Given the description of an element on the screen output the (x, y) to click on. 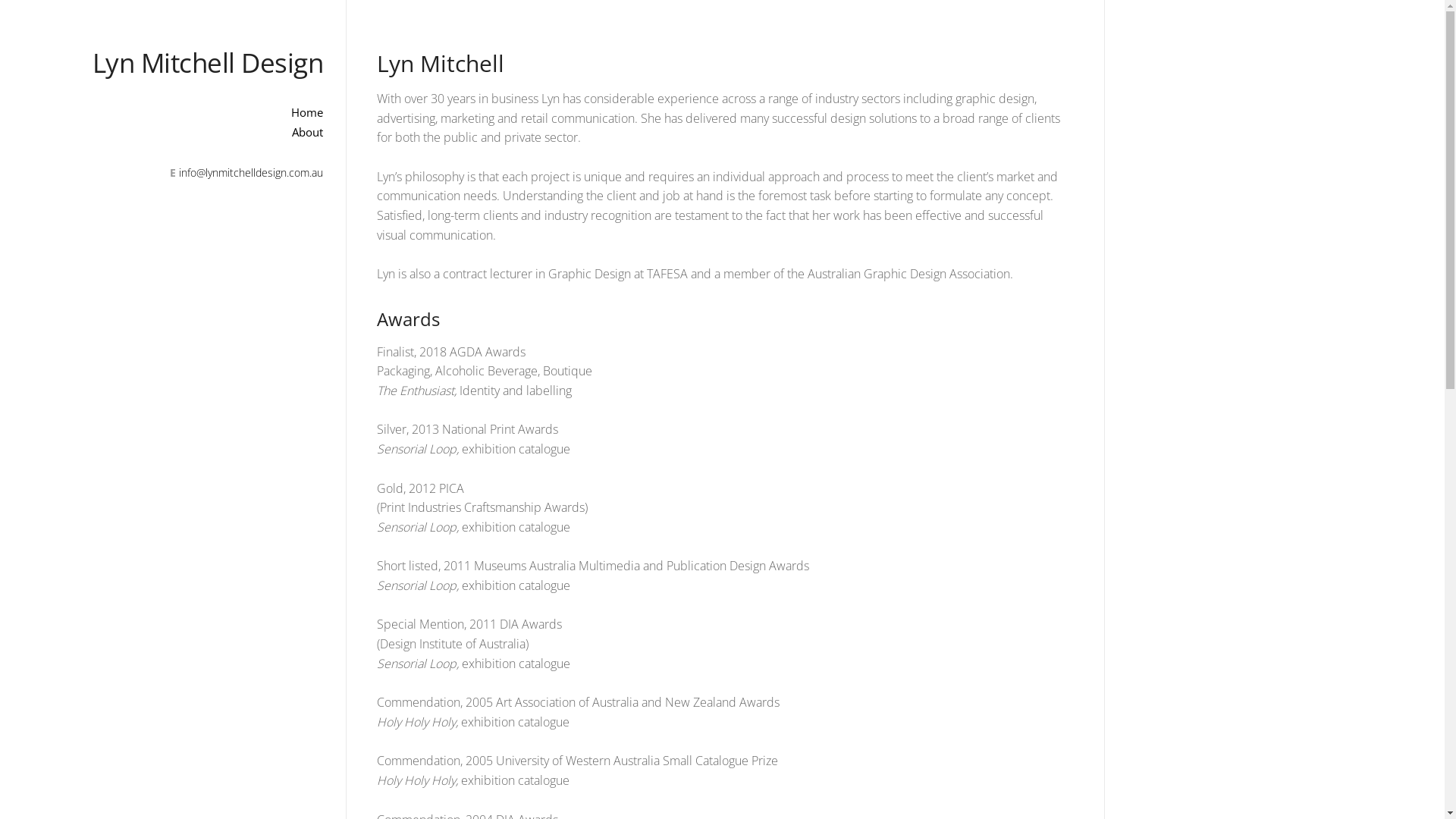
About Element type: text (172, 131)
info@lynmitchelldesign.com.au Element type: text (250, 172)
Home Element type: text (172, 112)
Lyn Mitchell Design Element type: text (207, 62)
